Given the description of an element on the screen output the (x, y) to click on. 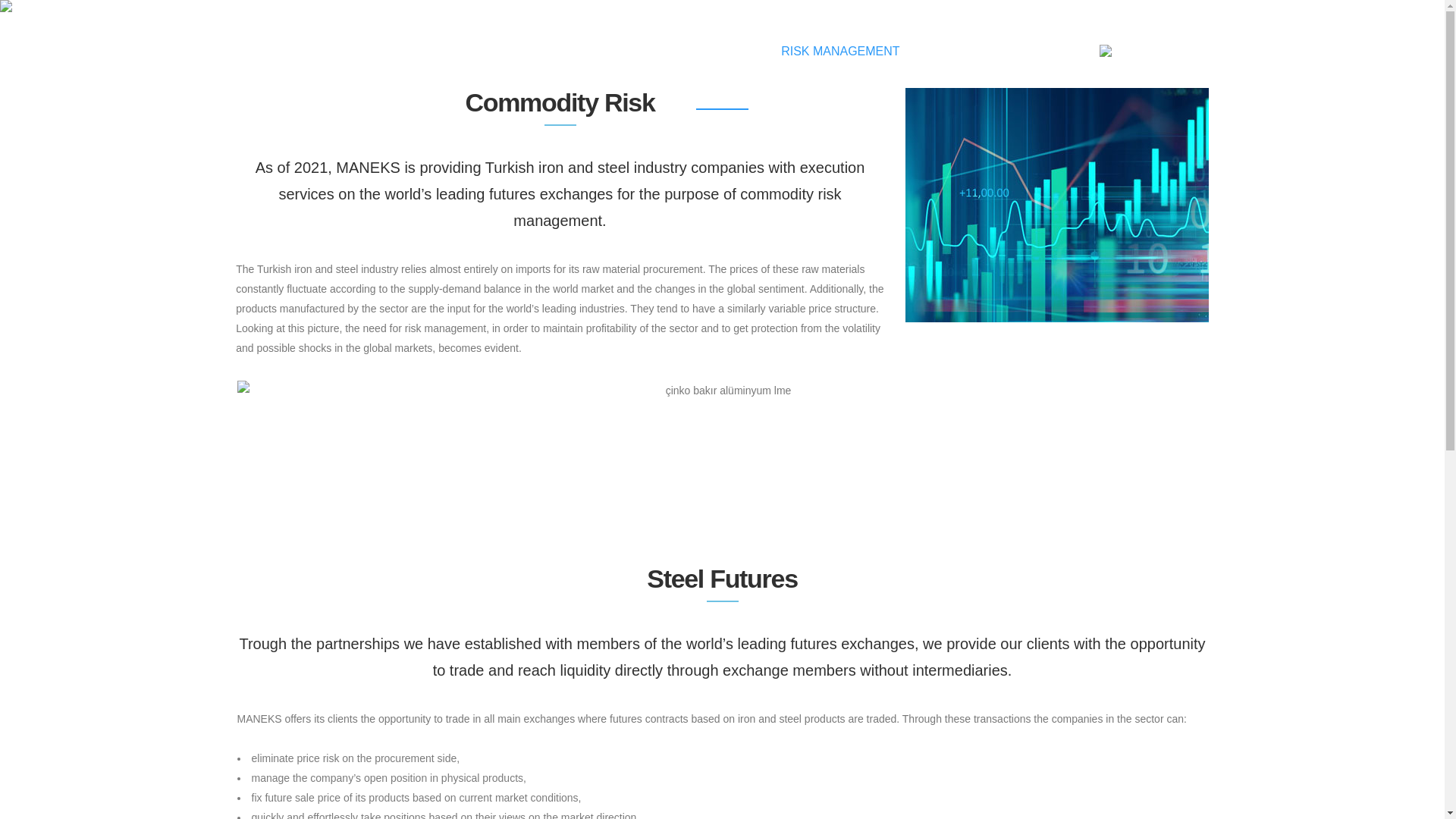
CONTACT (1044, 50)
HOME (575, 50)
PRODUCTS (721, 50)
RISK MANAGEMENT (840, 50)
PARTNERS (958, 50)
ABOUT (640, 50)
